Given the description of an element on the screen output the (x, y) to click on. 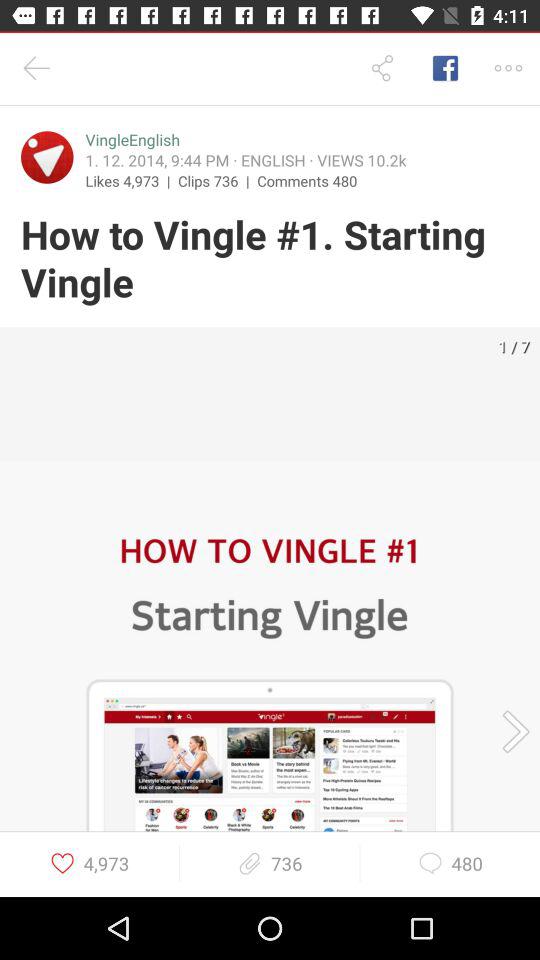
tap the icon above the how to vingle icon (47, 157)
